Given the description of an element on the screen output the (x, y) to click on. 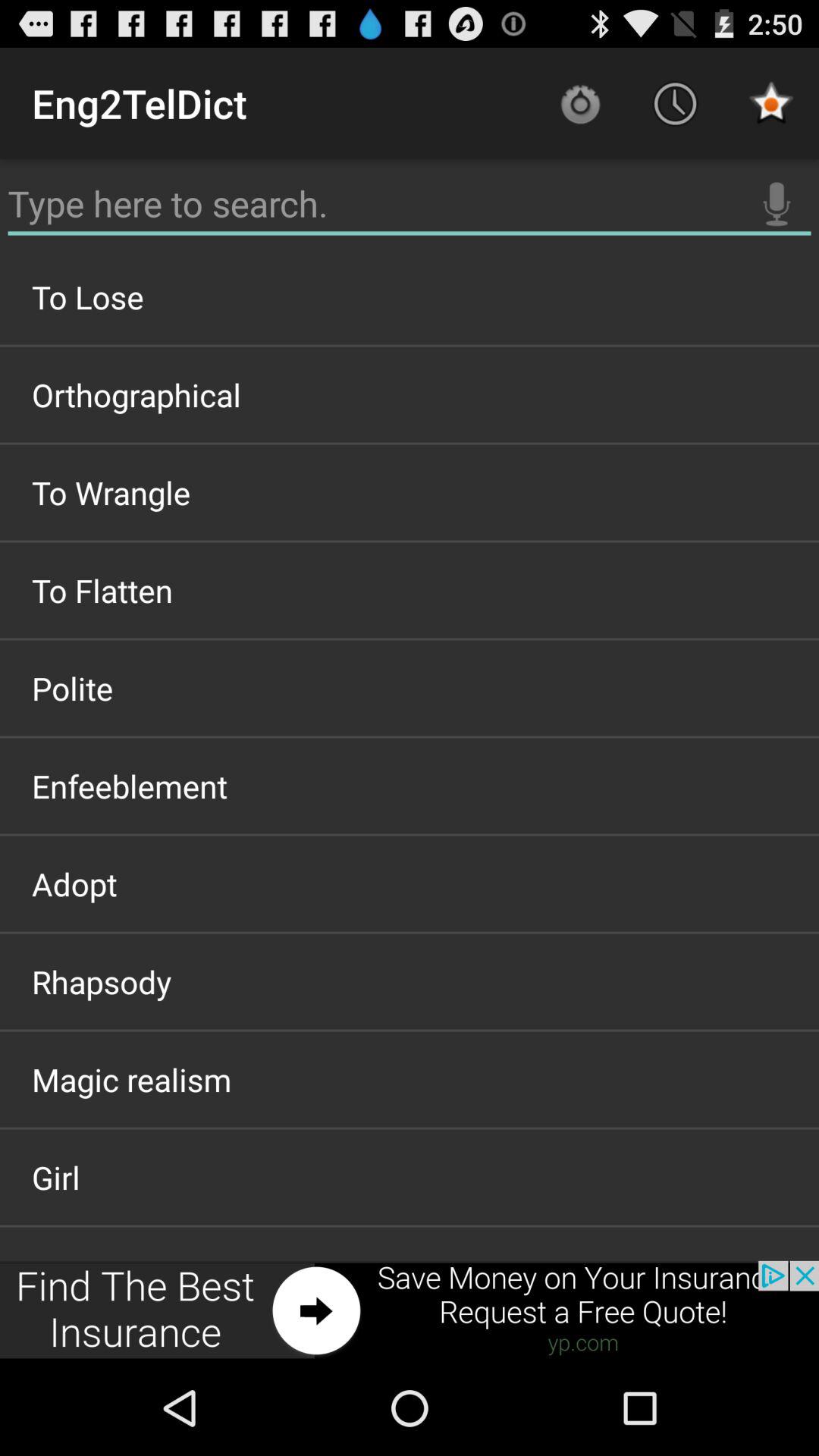
jump until to lose icon (409, 296)
